Given the description of an element on the screen output the (x, y) to click on. 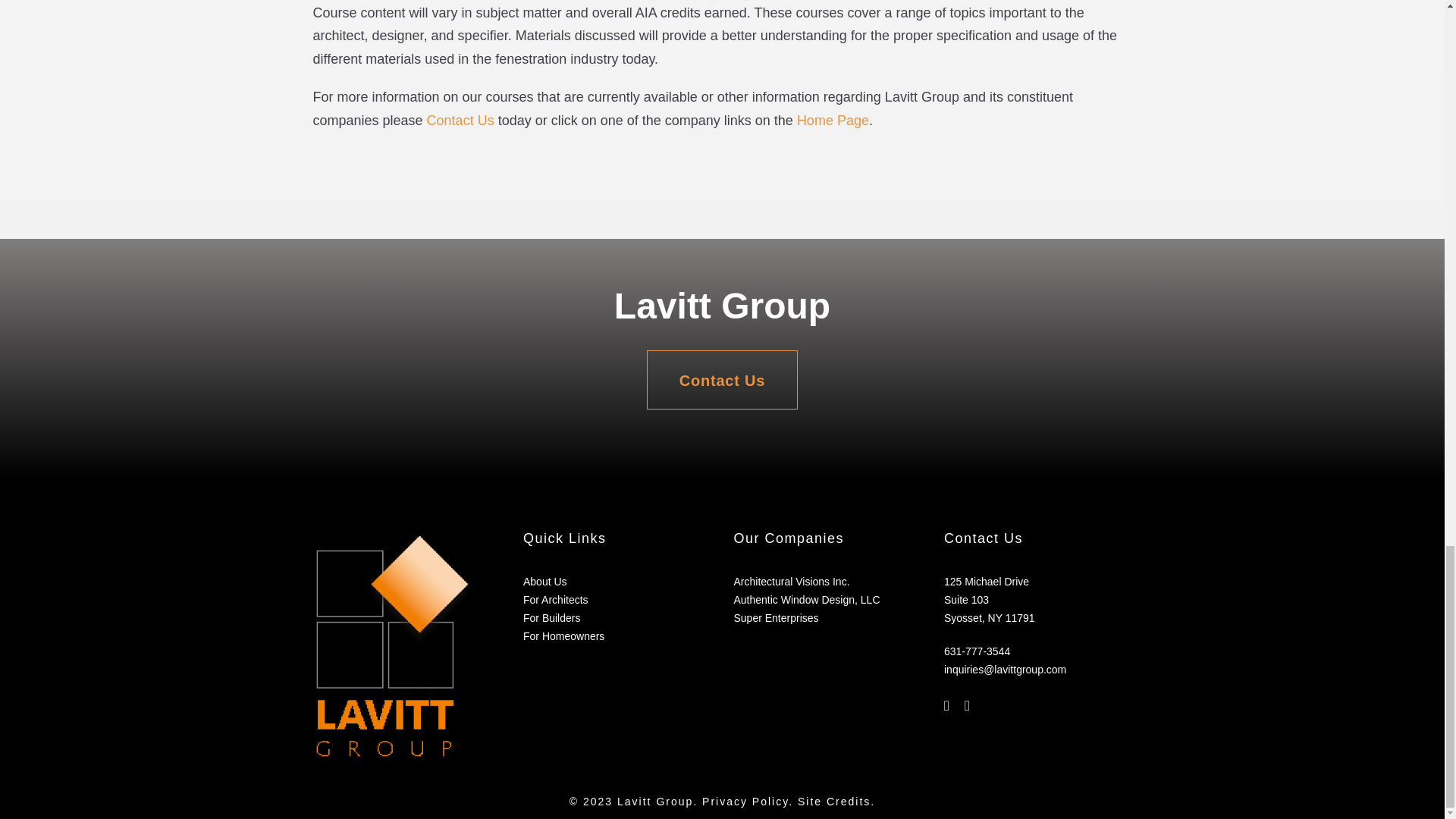
Privacy Policy. (747, 801)
Home Page (832, 120)
For Homeowners (563, 635)
Site Credits. (836, 801)
Contact Us (721, 379)
About Us (544, 581)
Super Enterprises (775, 617)
Authentic Window Design, LLC (806, 599)
Architectural Visions Inc. (791, 581)
For Architects (555, 599)
631-777-3544 (976, 651)
Contact Us (460, 120)
For Builders (550, 617)
